Given the description of an element on the screen output the (x, y) to click on. 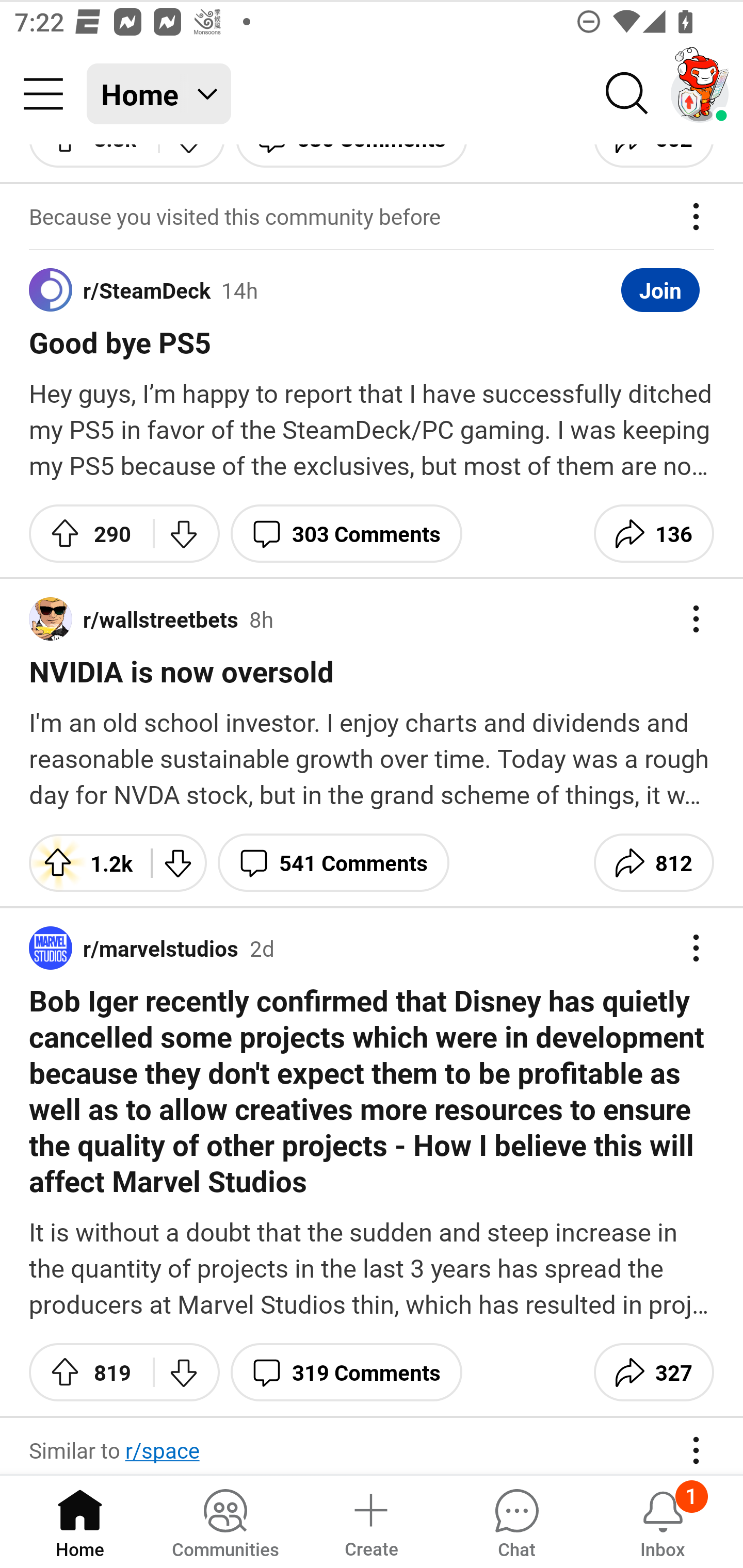
Community menu (43, 93)
Home Home feed (158, 93)
Search (626, 93)
TestAppium002 account (699, 93)
Home (80, 1520)
Communities (225, 1520)
Create a post Create (370, 1520)
Chat (516, 1520)
Inbox, has 1 notification 1 Inbox (662, 1520)
